Given the description of an element on the screen output the (x, y) to click on. 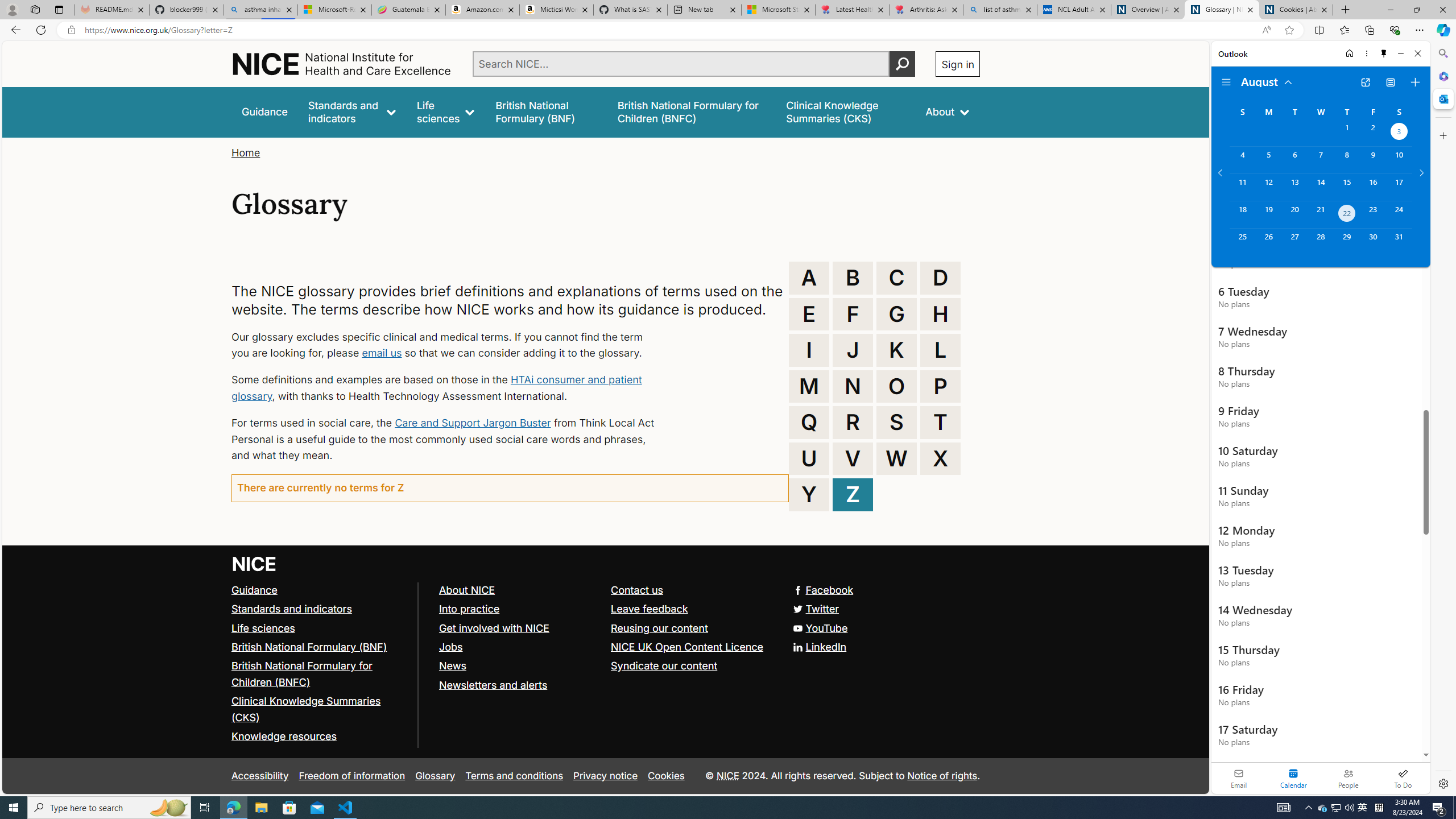
Jobs (450, 646)
M (809, 385)
Q (809, 422)
false (845, 111)
Friday, August 16, 2024.  (1372, 186)
